Given the description of an element on the screen output the (x, y) to click on. 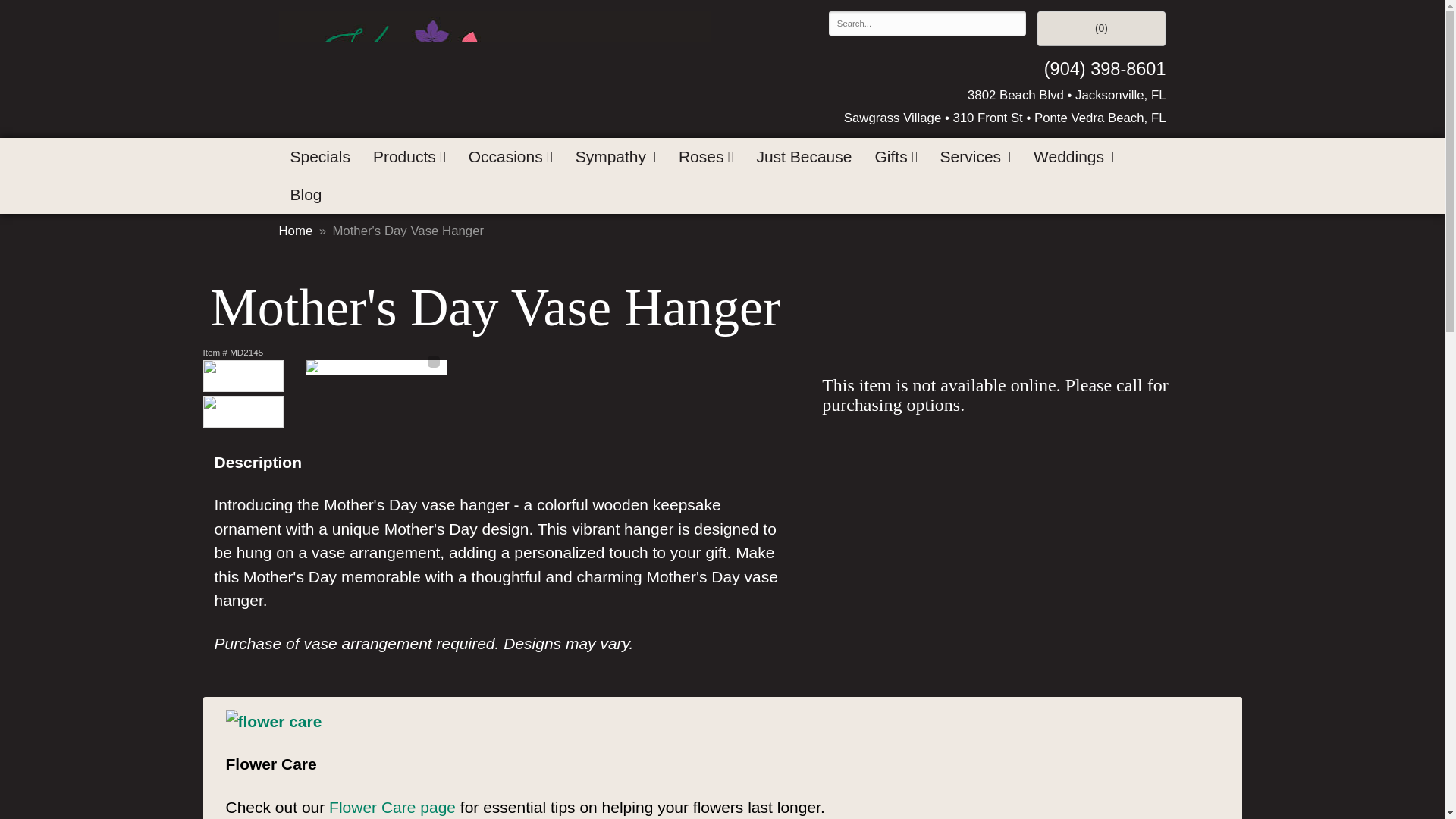
Flower Care (273, 719)
Specials (320, 157)
Roses (705, 157)
Sympathy (615, 157)
Occasions (510, 157)
Products (409, 157)
